Given the description of an element on the screen output the (x, y) to click on. 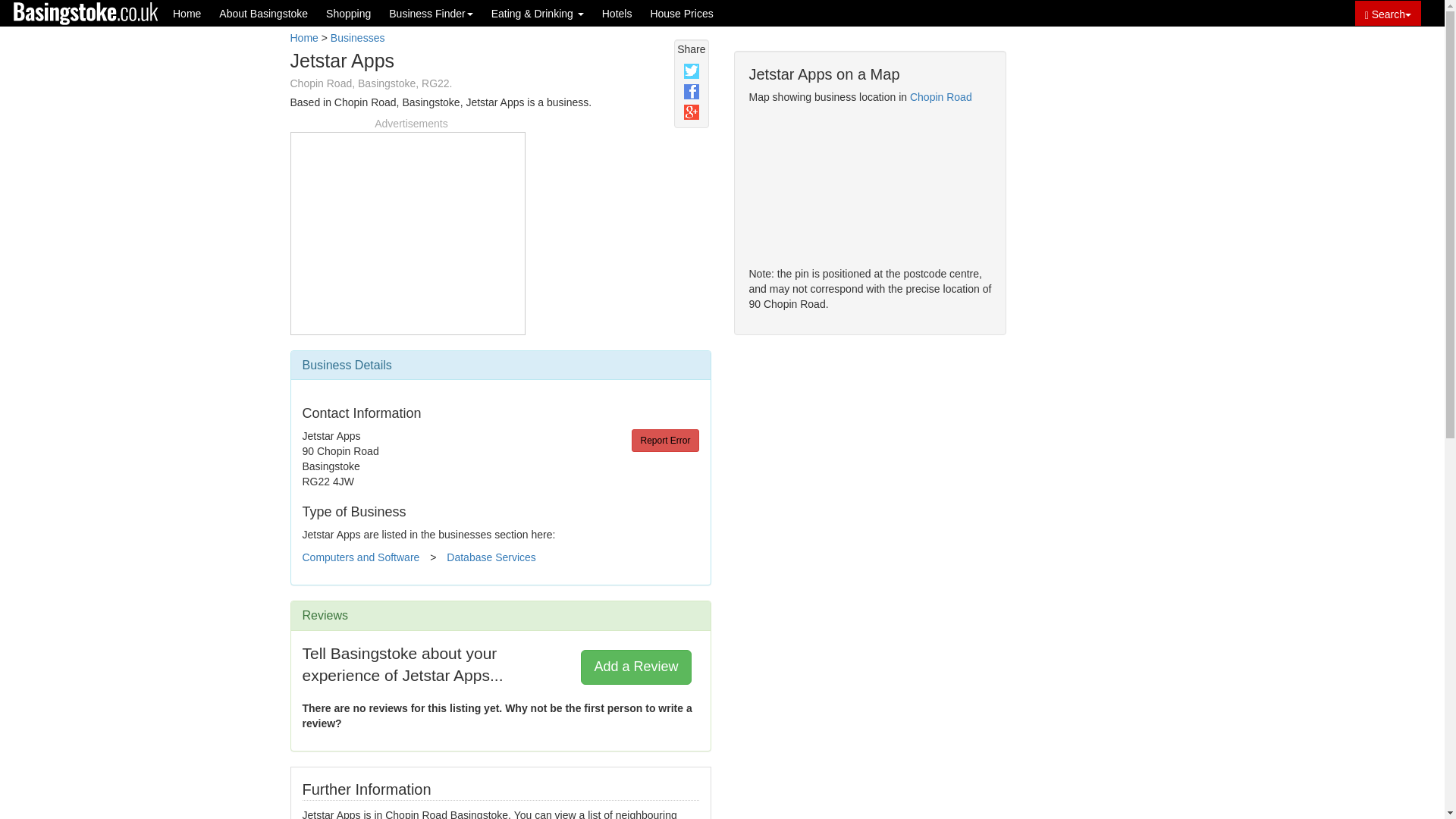
Report Error (664, 440)
Hotels (617, 12)
House Prices (681, 12)
Home (186, 12)
Add a Review (635, 667)
Businesses (357, 37)
Advertisement (407, 230)
Report Error (664, 440)
Shopping (348, 12)
About Basingstoke (263, 12)
Database Services (490, 557)
Search (1388, 12)
Computers and Software (360, 557)
Chopin Road (941, 96)
Business Finder (430, 12)
